Given the description of an element on the screen output the (x, y) to click on. 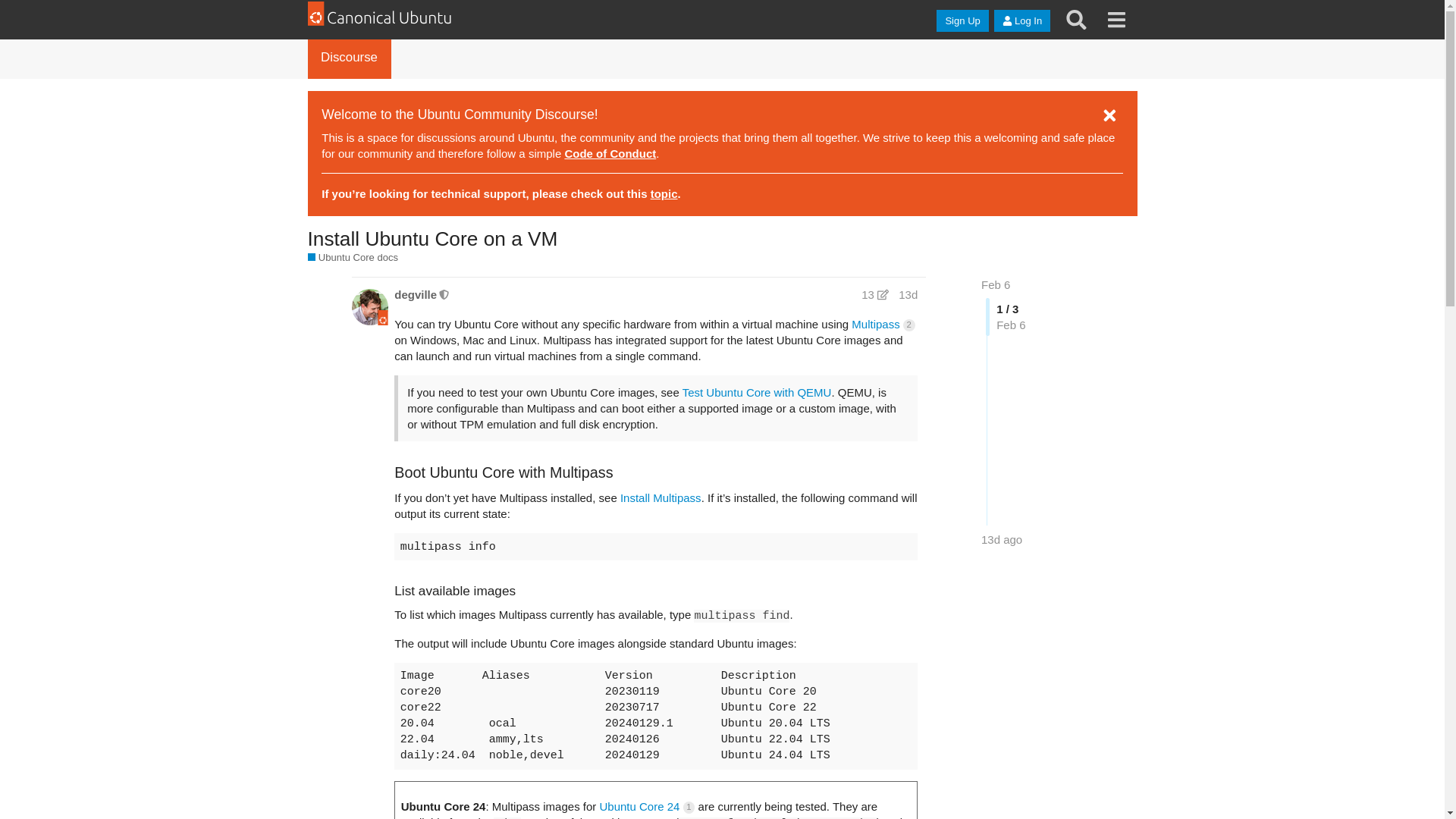
degville (415, 294)
1 click (688, 807)
13d (907, 294)
Install Ubuntu Core on a VM (432, 238)
menu (1116, 20)
topic (664, 193)
Jul 4, 2024 11:10 pm (1001, 539)
Post date (907, 294)
Ubuntu Core 24 1 (646, 806)
Test Ubuntu Core with QEMU (756, 391)
Install Multipass (660, 497)
13 (874, 294)
wiki last edited on Jul 4, 2024 11:09 pm (874, 294)
Ubuntu Core docs (352, 257)
Discourse (349, 57)
